Given the description of an element on the screen output the (x, y) to click on. 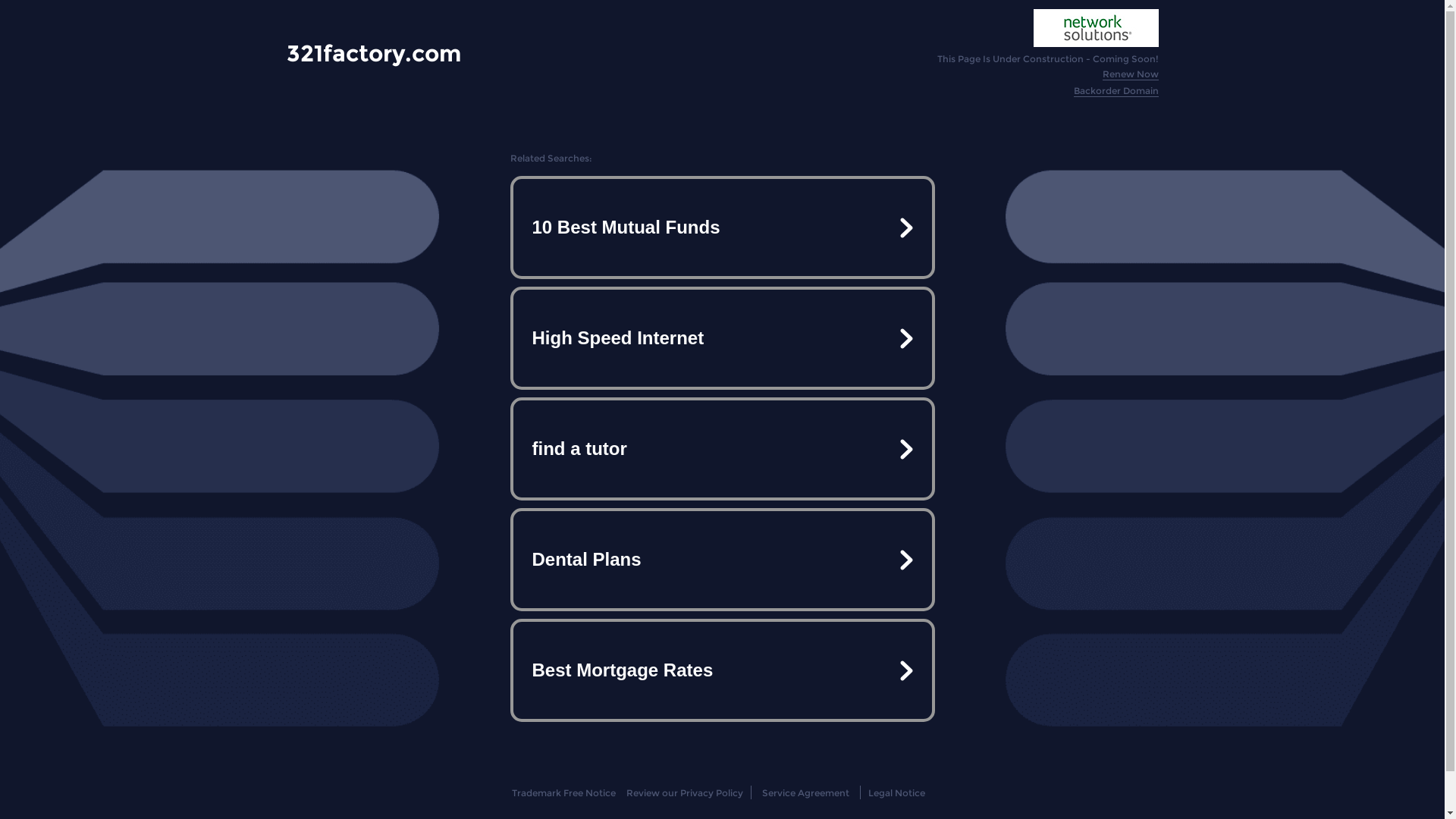
321factory.com Element type: text (373, 53)
Backorder Domain Element type: text (1115, 90)
Legal Notice Element type: text (896, 792)
10 Best Mutual Funds Element type: text (721, 227)
Trademark Free Notice Element type: text (563, 792)
Renew Now Element type: text (1130, 74)
High Speed Internet Element type: text (721, 337)
Best Mortgage Rates Element type: text (721, 669)
Review our Privacy Policy Element type: text (684, 792)
Dental Plans Element type: text (721, 559)
find a tutor Element type: text (721, 448)
Service Agreement Element type: text (805, 792)
